Given the description of an element on the screen output the (x, y) to click on. 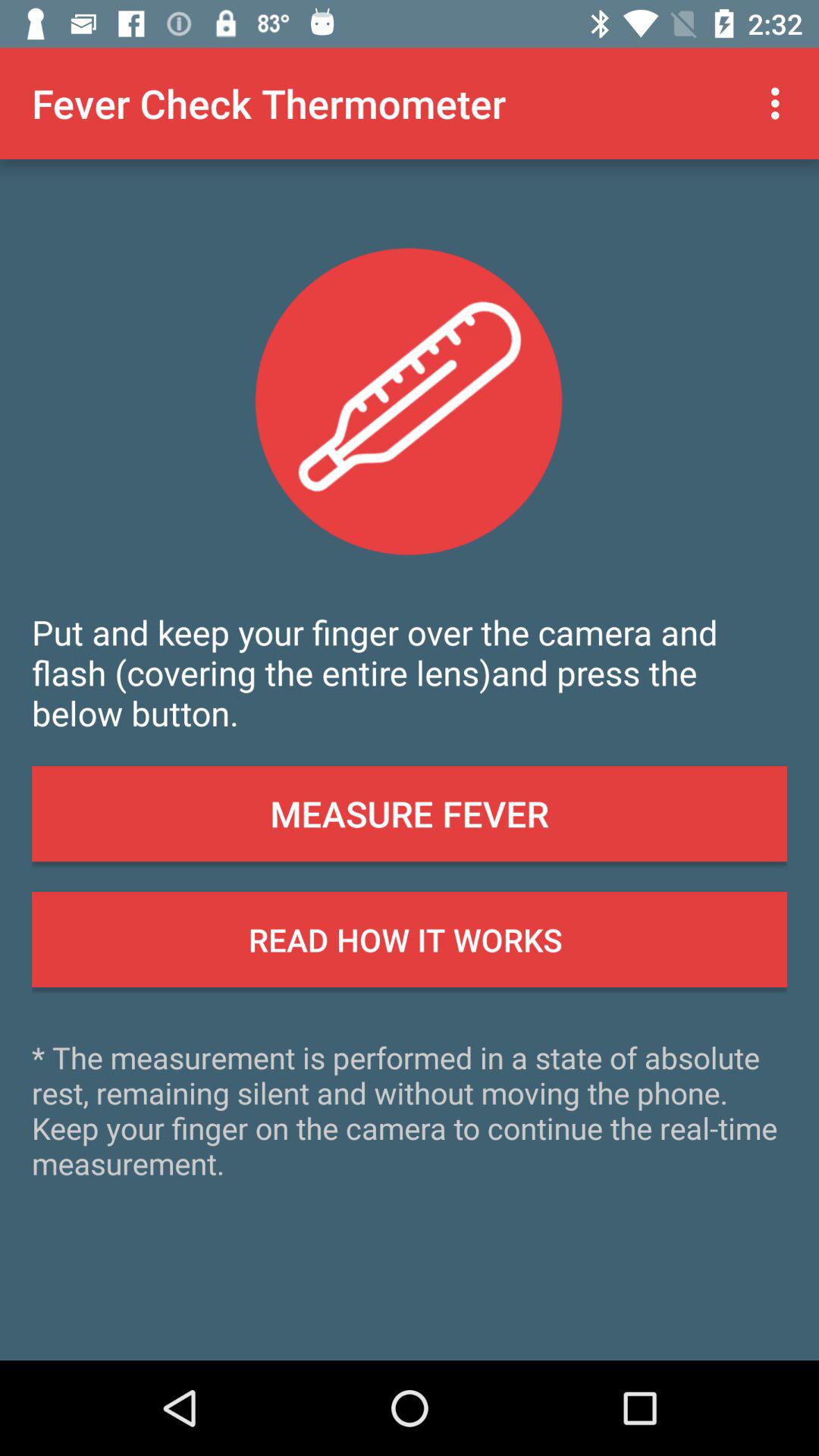
swipe to the read how it button (409, 939)
